Given the description of an element on the screen output the (x, y) to click on. 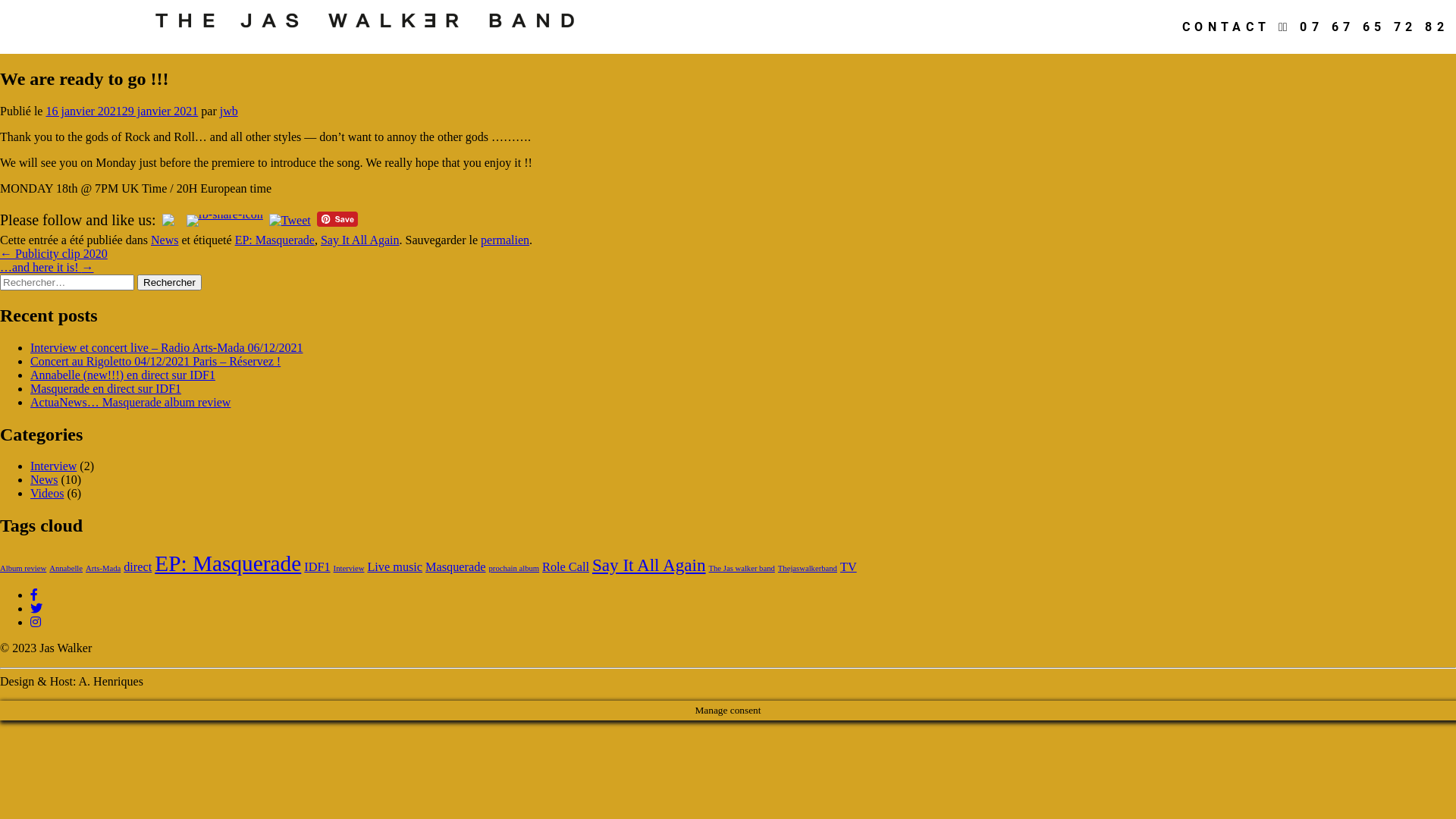
Say It All Again Element type: text (359, 239)
Album review Element type: text (23, 568)
Pin Share Element type: hover (336, 218)
Facebook Share Element type: hover (224, 220)
The Jas walker band Element type: text (742, 568)
Annabelle Element type: text (65, 568)
Rechercher Element type: text (169, 282)
direct Element type: text (137, 567)
Masquerade en direct sur IDF1 Element type: text (105, 388)
Thejaswalkerband Element type: text (807, 568)
Role Call Element type: text (565, 567)
prochain album Element type: text (514, 568)
Live music Element type: text (394, 567)
Say It All Again Element type: text (649, 564)
Lien Twitter Element type: text (36, 608)
Lien Instagram Element type: text (35, 621)
EP: Masquerade Element type: text (227, 563)
Videos Element type: text (46, 492)
Lien Facebook Element type: text (33, 594)
IDF1 Element type: text (316, 567)
Interview Element type: text (348, 568)
TV Element type: text (848, 567)
permalien Element type: text (504, 239)
Annabelle (new!!!) en direct sur IDF1 Element type: text (122, 374)
16 janvier 202129 janvier 2021 Element type: text (121, 110)
News Element type: text (43, 479)
Arts-Mada Element type: text (102, 568)
Tweet Element type: hover (289, 220)
EP: Masquerade Element type: text (274, 239)
jwb Element type: text (228, 110)
News Element type: text (164, 239)
Interview Element type: text (53, 465)
Masquerade Element type: text (455, 567)
